Given the description of an element on the screen output the (x, y) to click on. 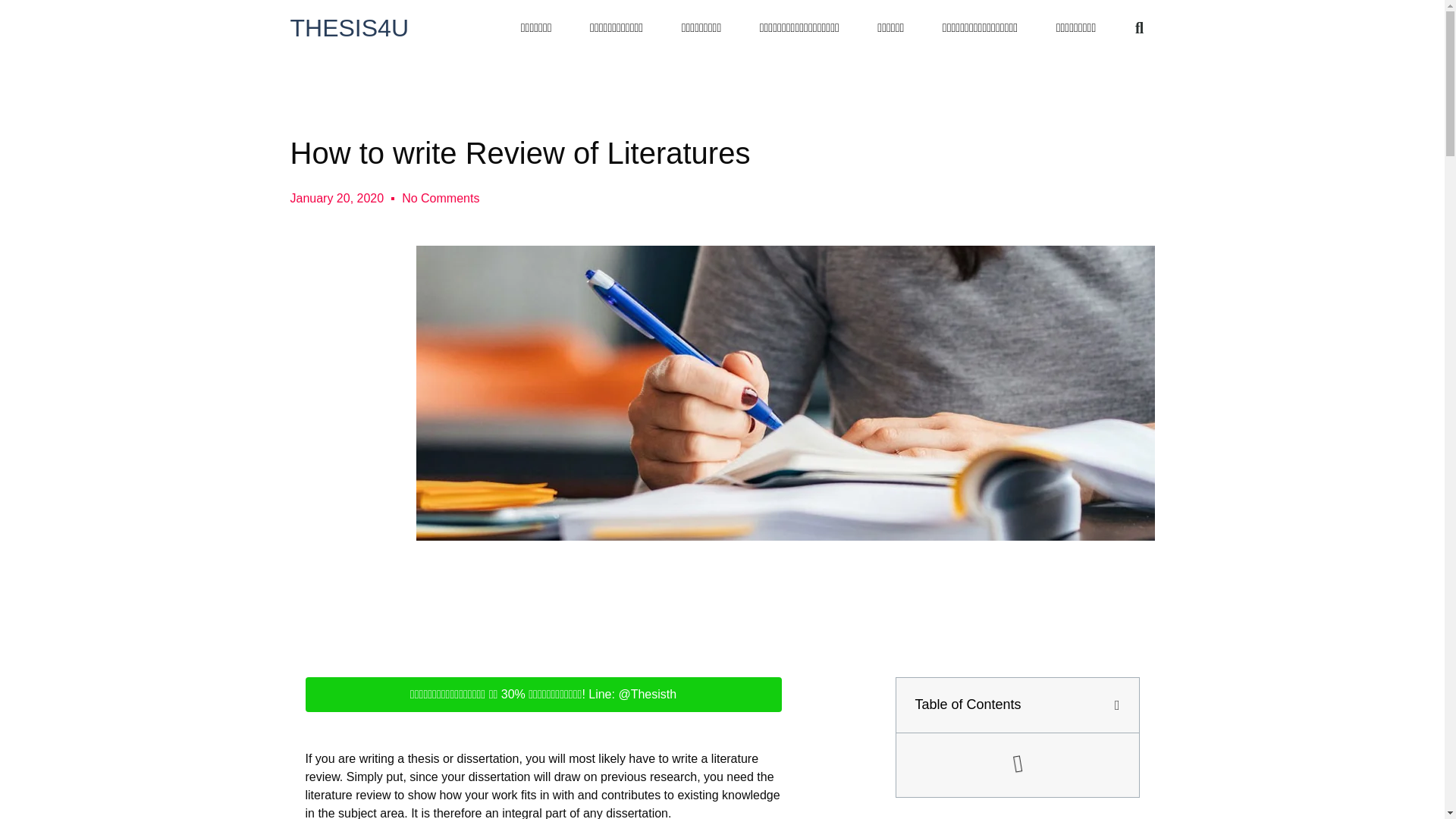
THESIS4U (348, 27)
